Given the description of an element on the screen output the (x, y) to click on. 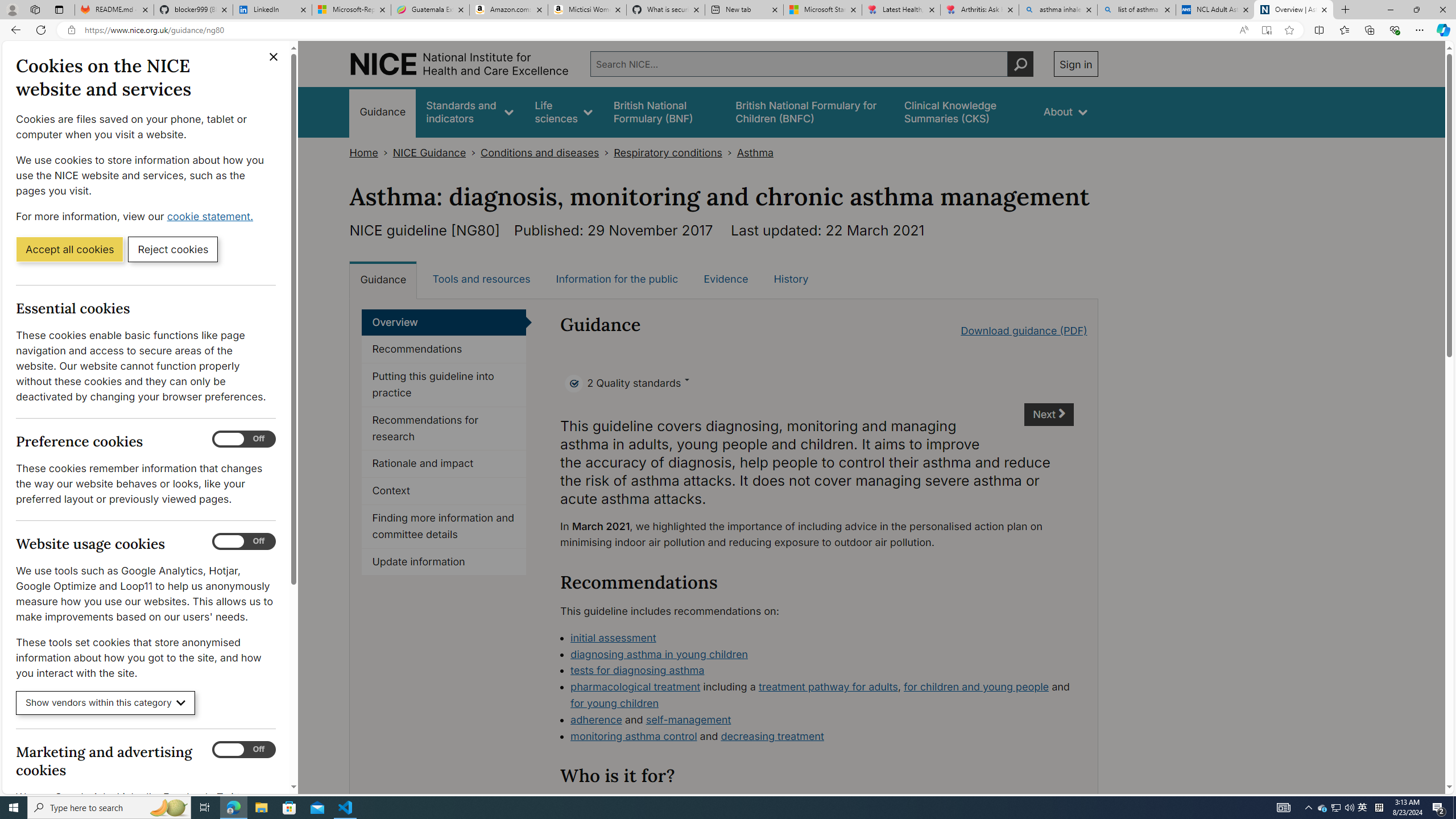
Recommendations (444, 349)
Update information (443, 561)
Accept all cookies (69, 248)
monitoring asthma control and decreasing treatment (822, 736)
History (790, 279)
Finding more information and committee details (443, 526)
British National Formulary for Children (BNFC) (809, 111)
NICE Guidance (429, 152)
